Given the description of an element on the screen output the (x, y) to click on. 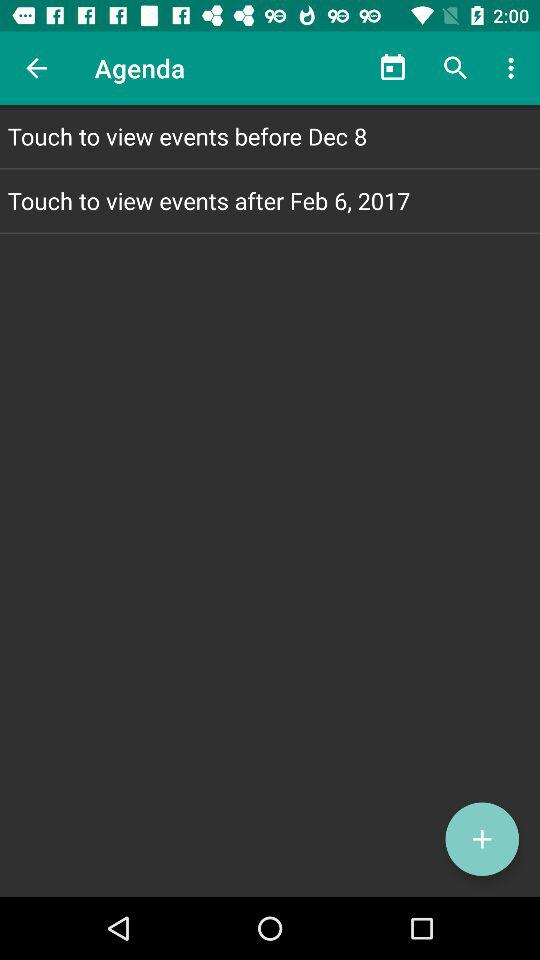
press icon next to agenda (392, 67)
